Given the description of an element on the screen output the (x, y) to click on. 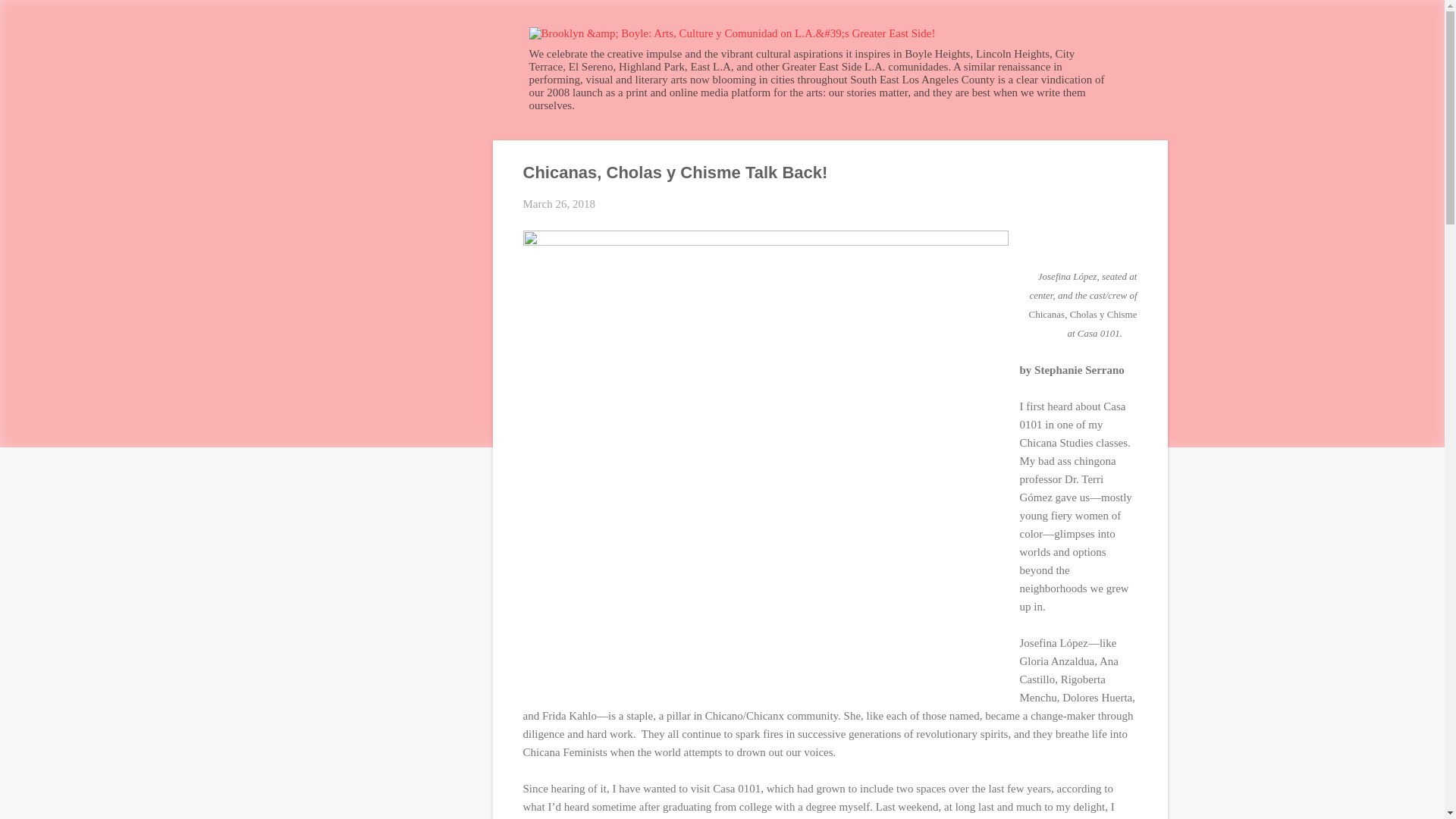
Search (29, 18)
March 26, 2018 (558, 203)
permanent link (558, 203)
